Given the description of an element on the screen output the (x, y) to click on. 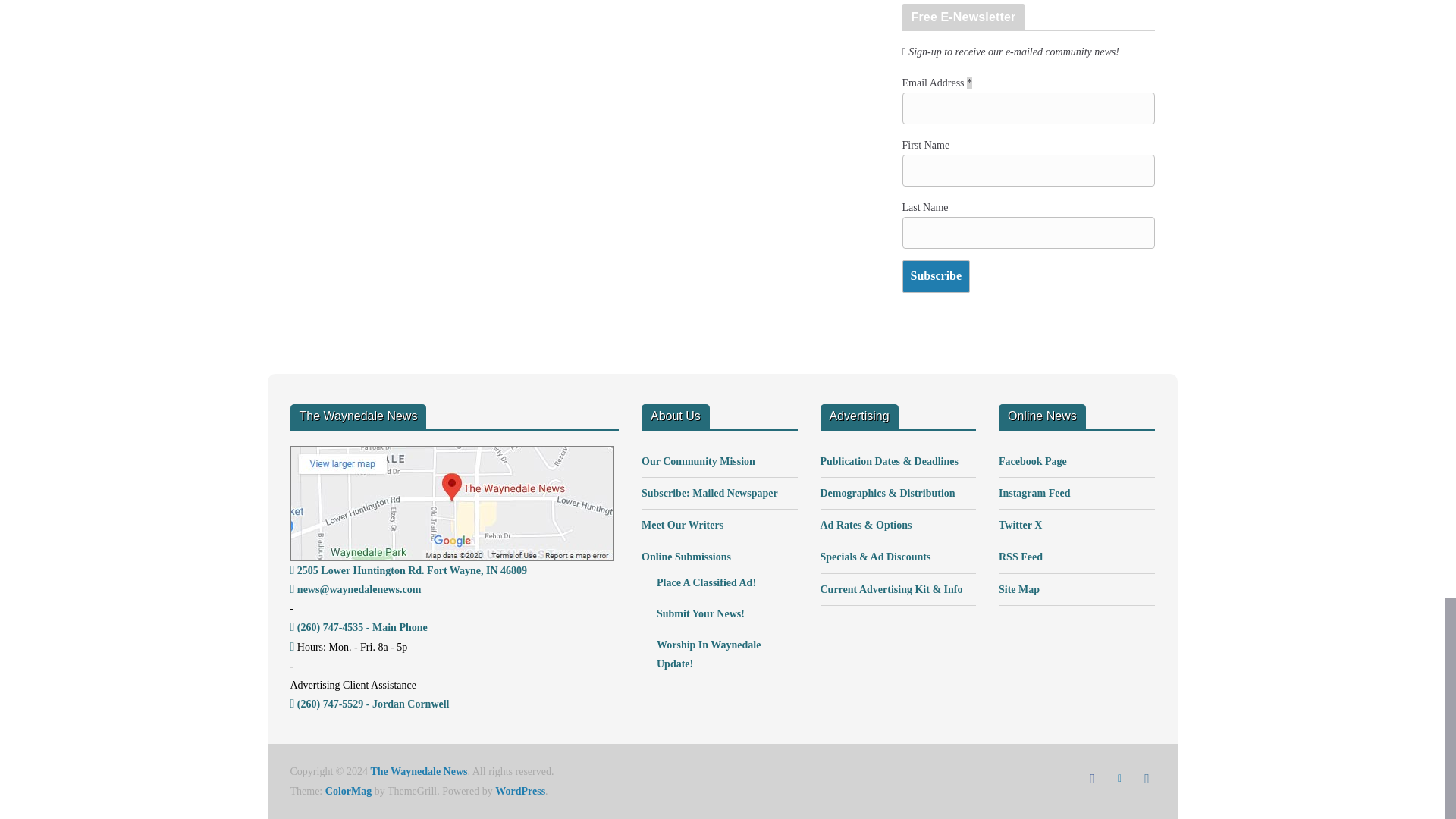
Subscribe (936, 276)
